Given the description of an element on the screen output the (x, y) to click on. 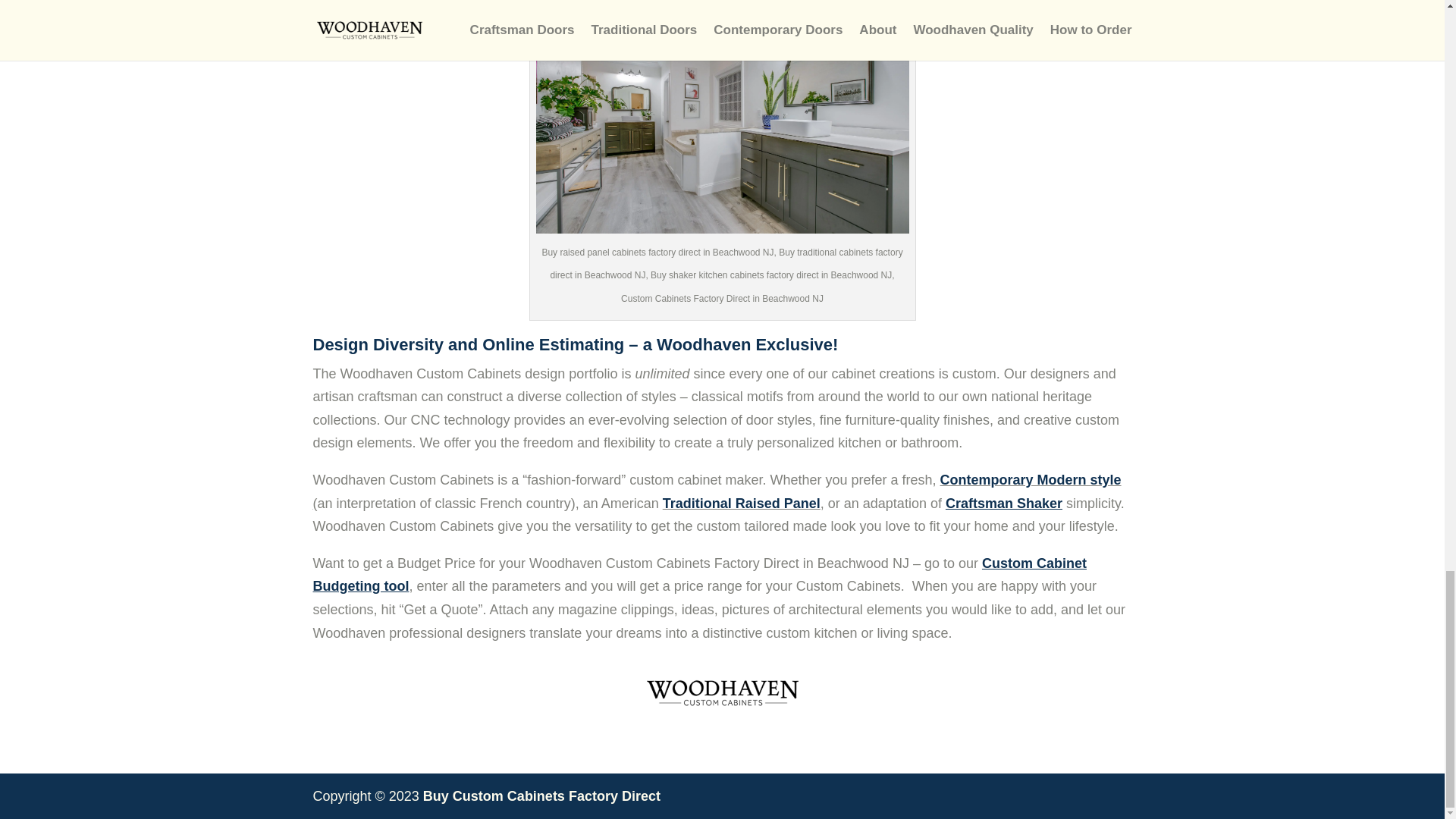
Craftsman Shaker (1003, 503)
Contemporary Modern style (1030, 479)
Traditional Raised Panel (741, 503)
Custom Cabinet Budgeting tool (699, 575)
